Given the description of an element on the screen output the (x, y) to click on. 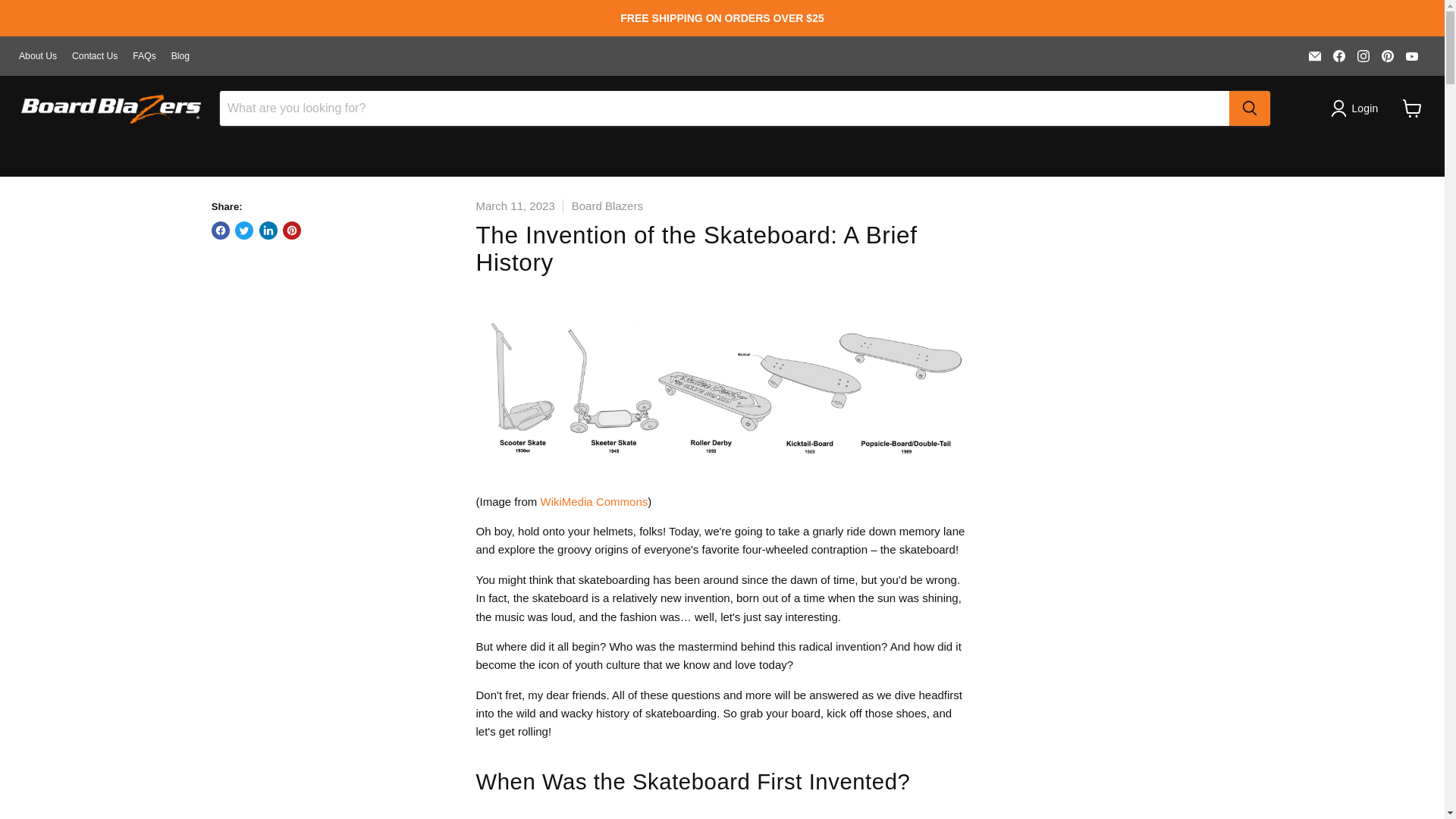
YouTube (1411, 55)
Find us on Instagram (1363, 55)
Find us on Pinterest (1387, 55)
About Us (37, 55)
Blog (180, 55)
Find us on YouTube (1411, 55)
Email (1314, 55)
Instagram (1363, 55)
Email Board Blazers (1314, 55)
View cart (1411, 108)
